Given the description of an element on the screen output the (x, y) to click on. 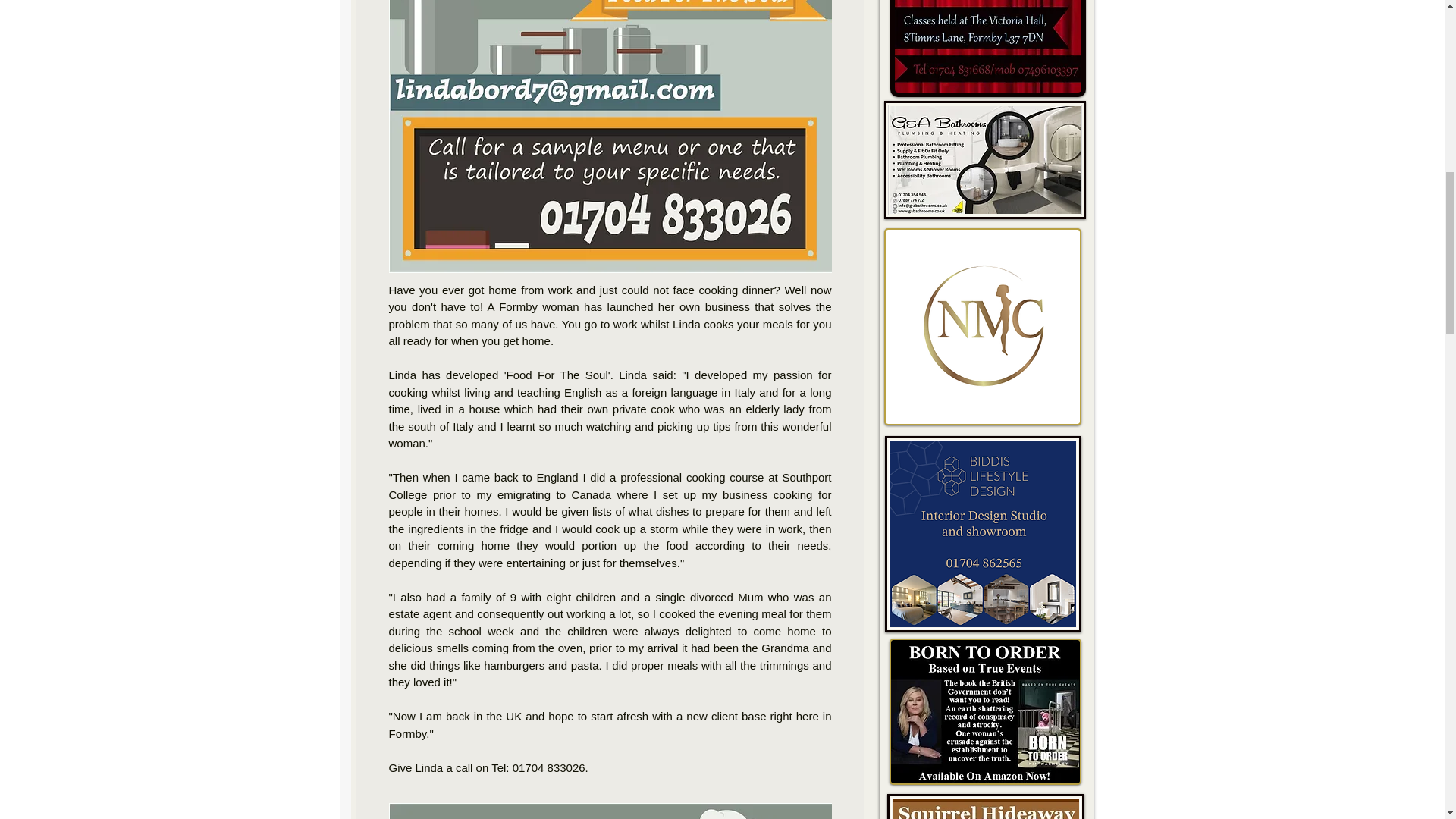
SWW Construction Formby (984, 711)
SWW Construction Formby (981, 533)
Formby School of Dancing and Performing  (987, 48)
SWW Construction Formby (982, 326)
SWW Construction Formby (985, 806)
